Given the description of an element on the screen output the (x, y) to click on. 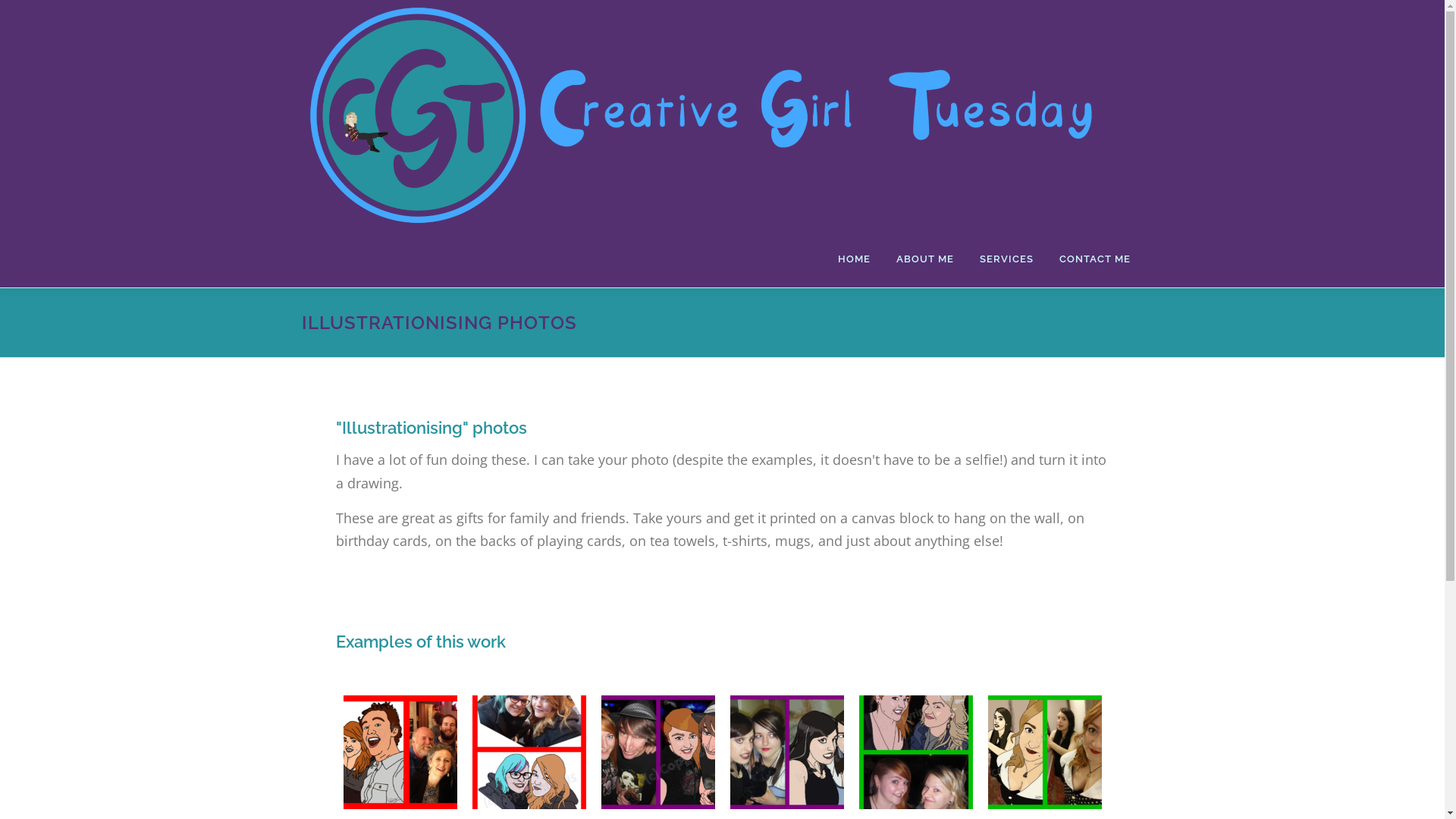
ABOUT ME Element type: text (924, 258)
CONTACT ME Element type: text (1094, 258)
family bna Element type: hover (399, 752)
cb bna Element type: hover (528, 752)
cj bna Element type: hover (915, 752)
cc bna Element type: hover (657, 752)
cm2 bna Element type: hover (1044, 752)
SERVICES Element type: text (1005, 258)
cm1 bna Element type: hover (786, 752)
HOME Element type: text (854, 258)
